Given the description of an element on the screen output the (x, y) to click on. 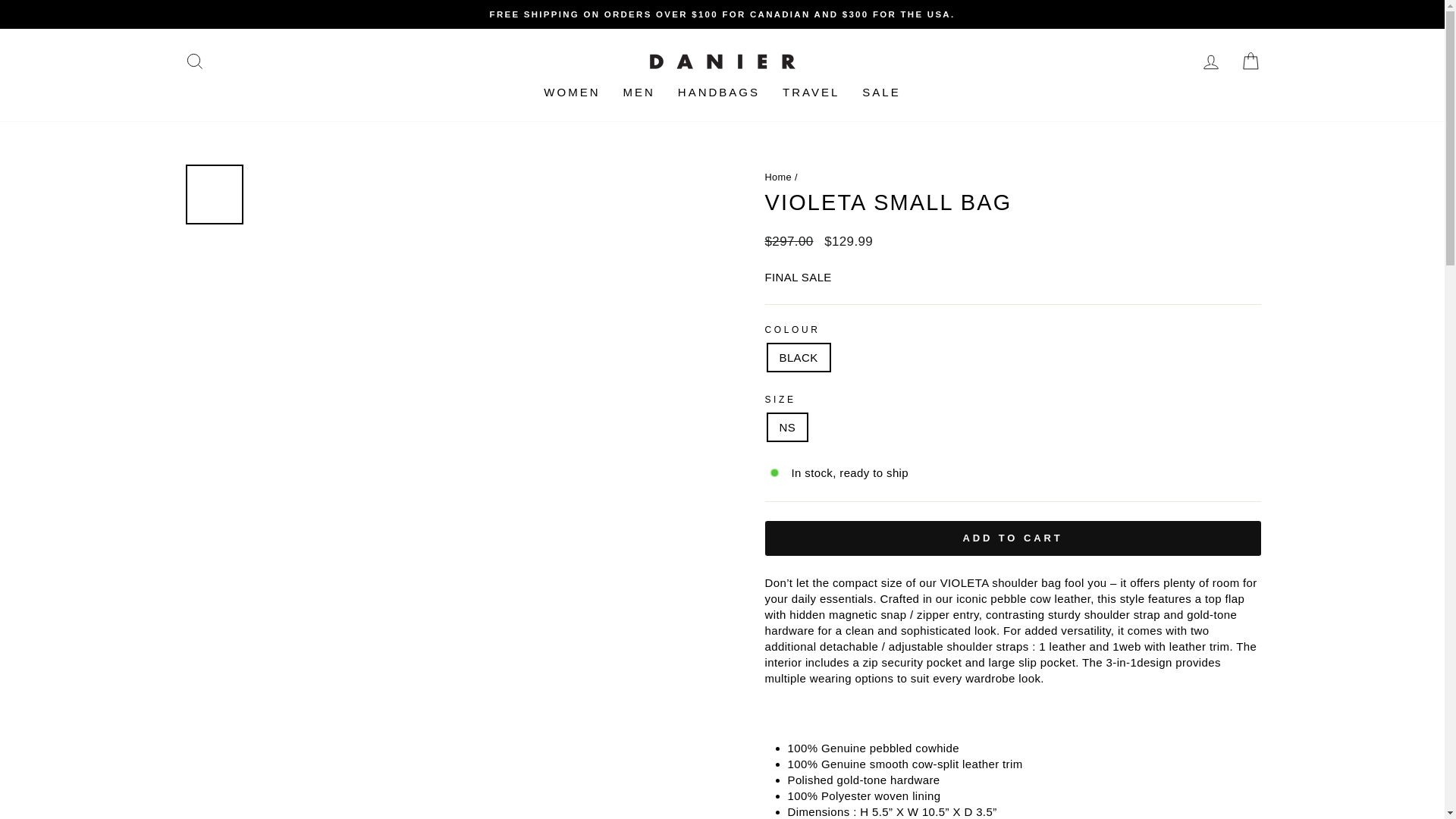
Back to the frontpage (778, 176)
